Given the description of an element on the screen output the (x, y) to click on. 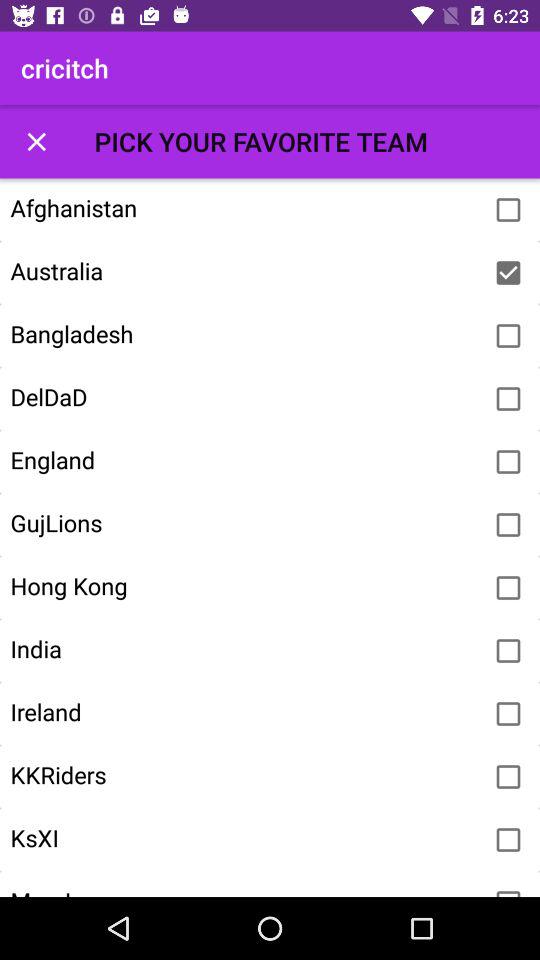
open item next to pick your favorite item (36, 141)
